Given the description of an element on the screen output the (x, y) to click on. 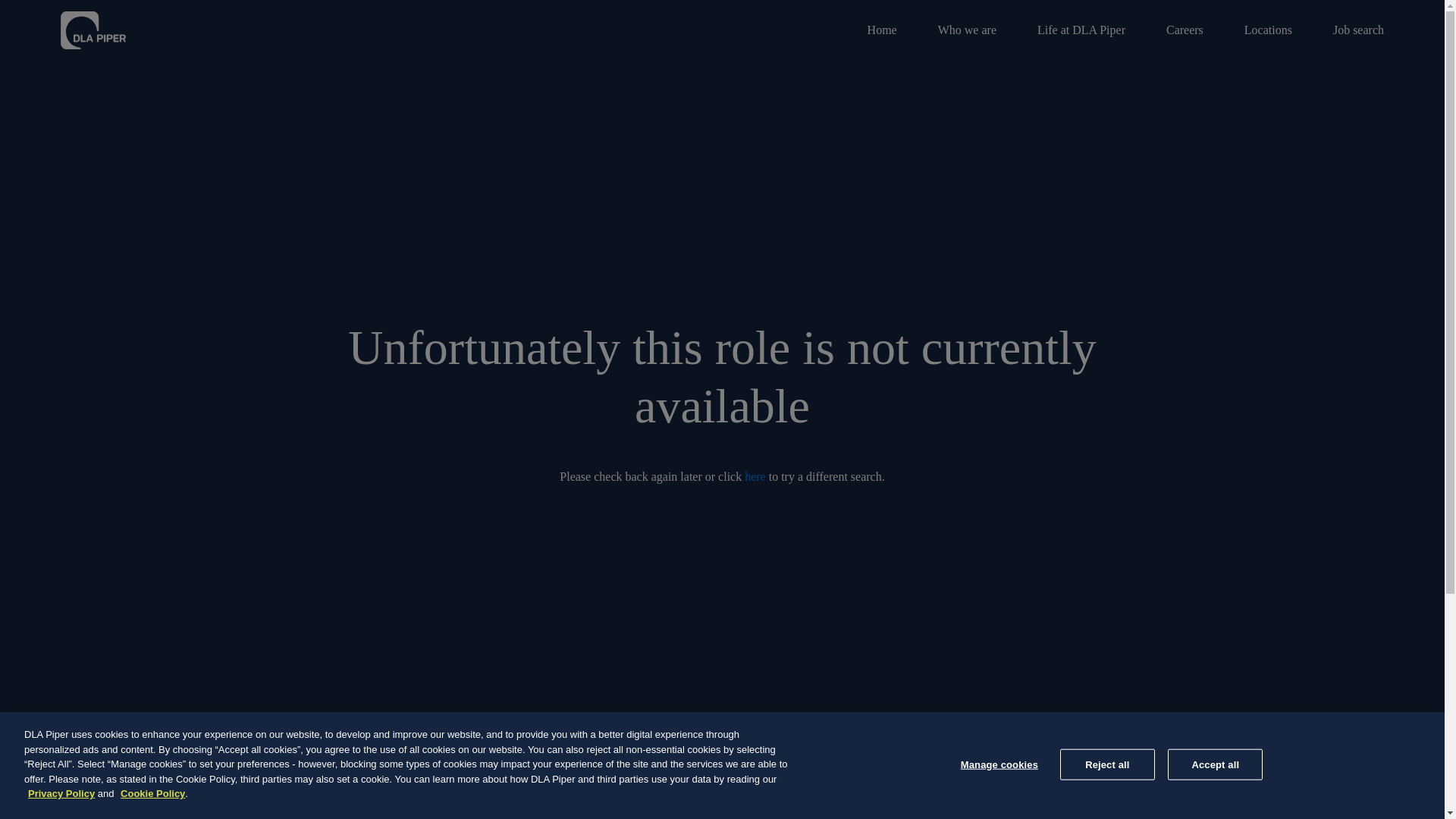
here (754, 476)
Life at DLA Piper (1080, 30)
Manage cookies (999, 764)
Reject all (1106, 764)
Job search (1348, 30)
Locations (1268, 30)
Cookie Policy (152, 793)
Home (882, 30)
Accept all (1214, 764)
Privacy Policy (60, 793)
